Given the description of an element on the screen output the (x, y) to click on. 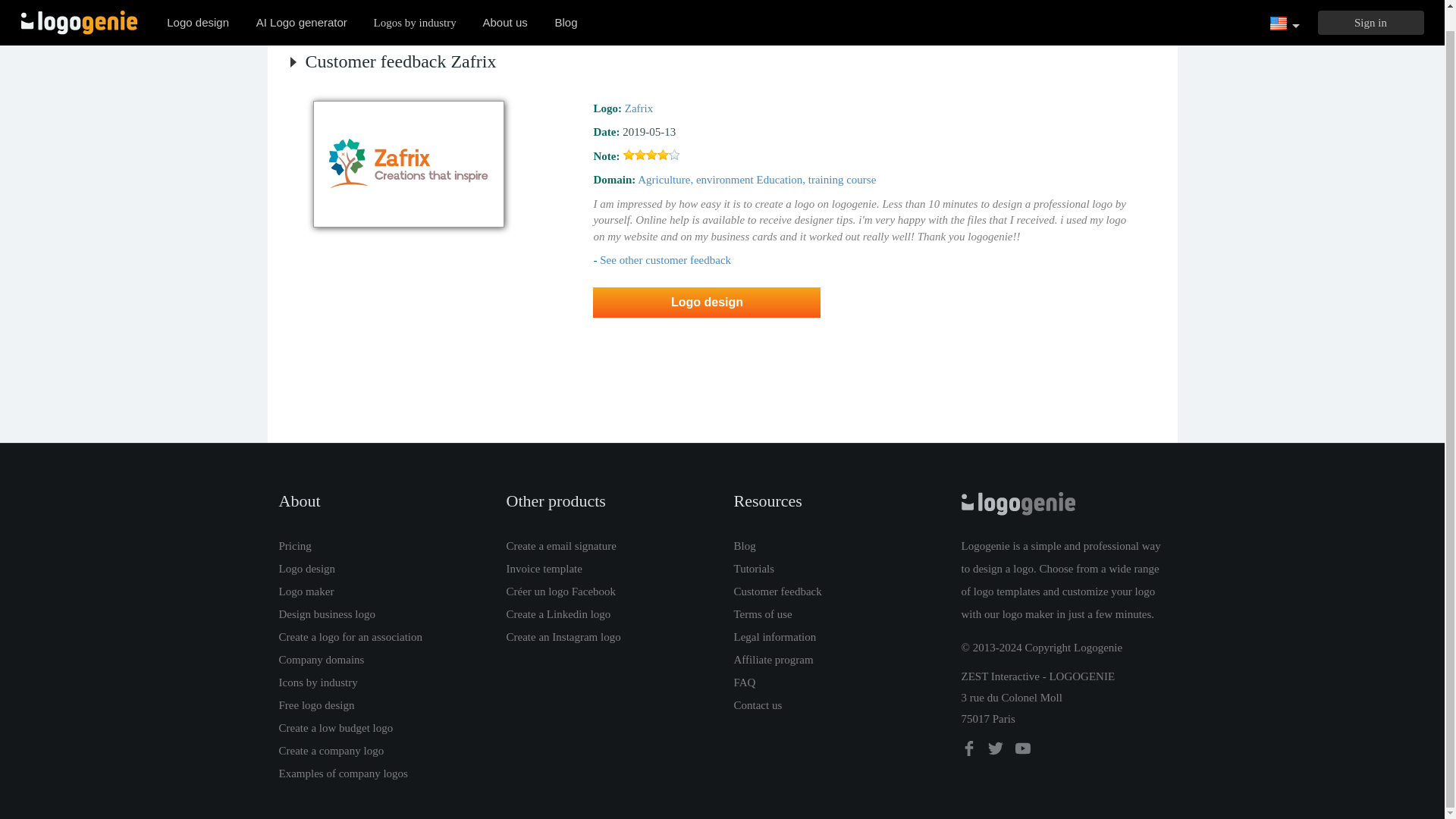
AI Logo generator (301, 8)
Logos by industry (414, 8)
Back to home (78, 7)
Logo design (197, 8)
About us (505, 8)
Sign in (1370, 7)
Back to home (78, 7)
Custom logo design (197, 8)
AI Logo generator (301, 8)
Blog (565, 8)
